Given the description of an element on the screen output the (x, y) to click on. 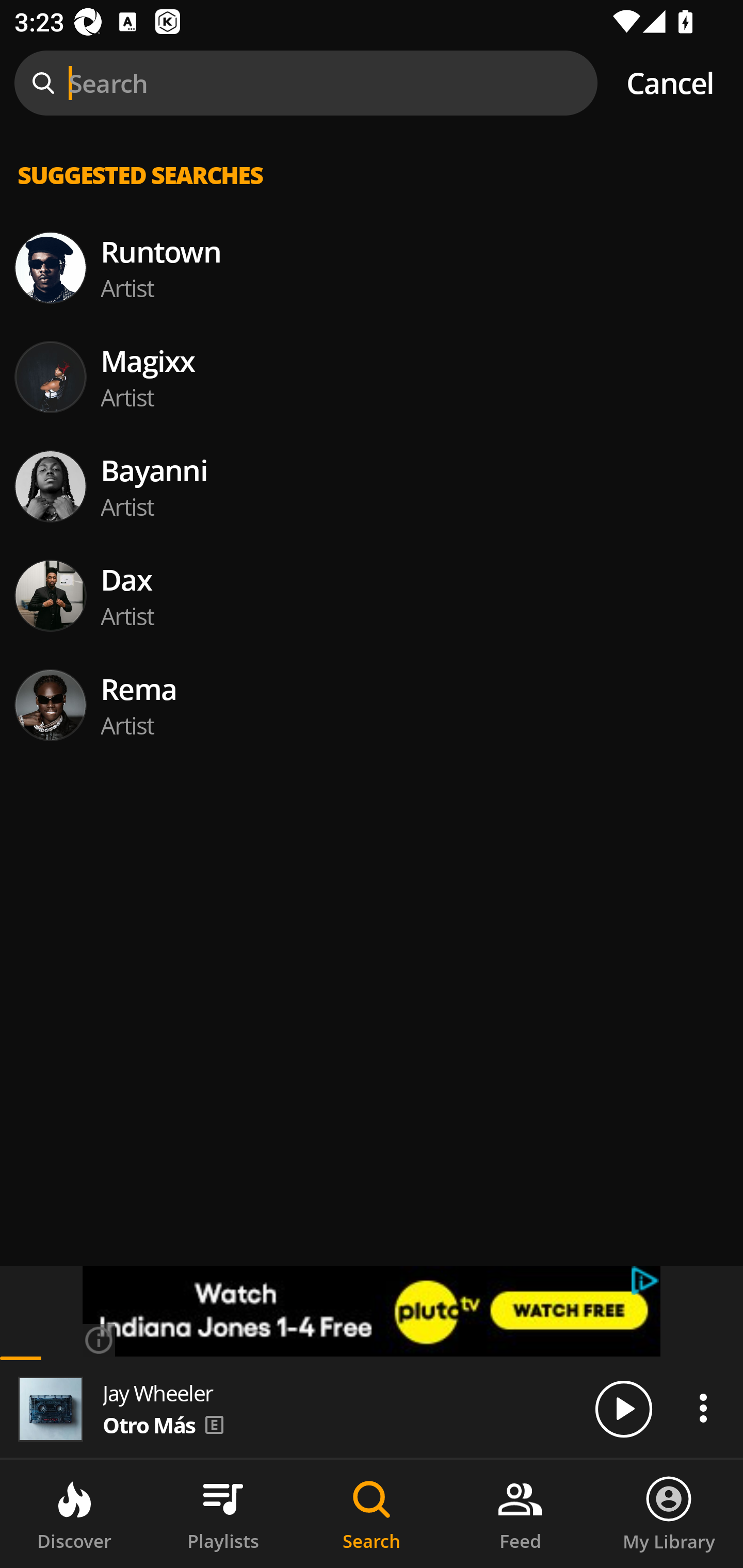
Search Cancel (371, 82)
Cancel (670, 82)
Artists, songs, albums and playlists… (371, 191)
All Country Afrosounds Pop Caribbean (371, 275)
Magixx Artist (371, 377)
Bayanni Artist (371, 485)
Dax Artist (371, 595)
Rema Artist (371, 705)
lt4wsz9p_fiz3yzo_gk444shsqxpjqaig (371, 1311)
privacy (645, 1280)
Actions (703, 1407)
Play/Pause (623, 1408)
Discover (74, 1513)
Playlists (222, 1513)
Search (371, 1513)
Feed (519, 1513)
My Library (668, 1513)
